Given the description of an element on the screen output the (x, y) to click on. 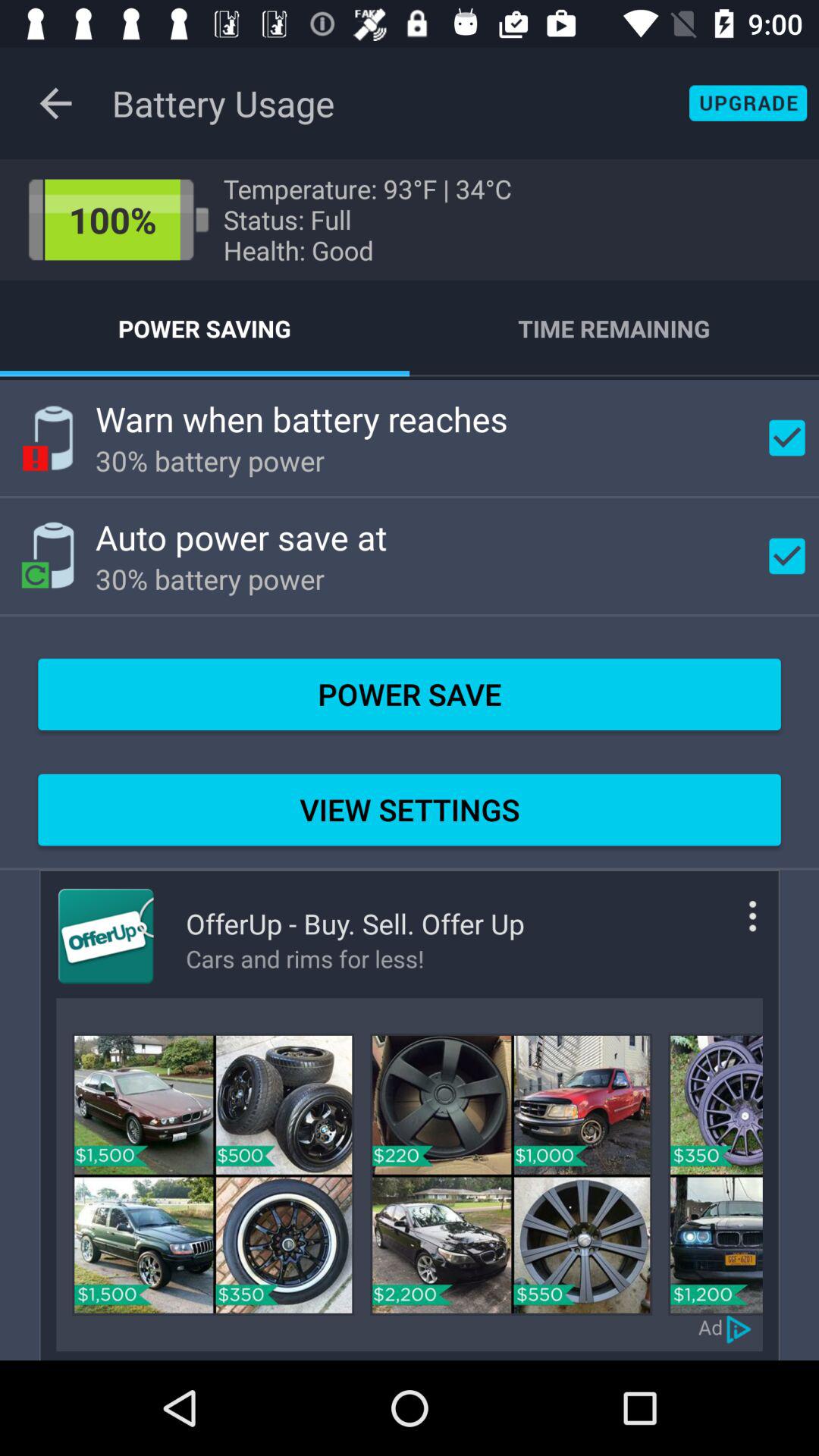
view advertisement choices (740, 1327)
